Given the description of an element on the screen output the (x, y) to click on. 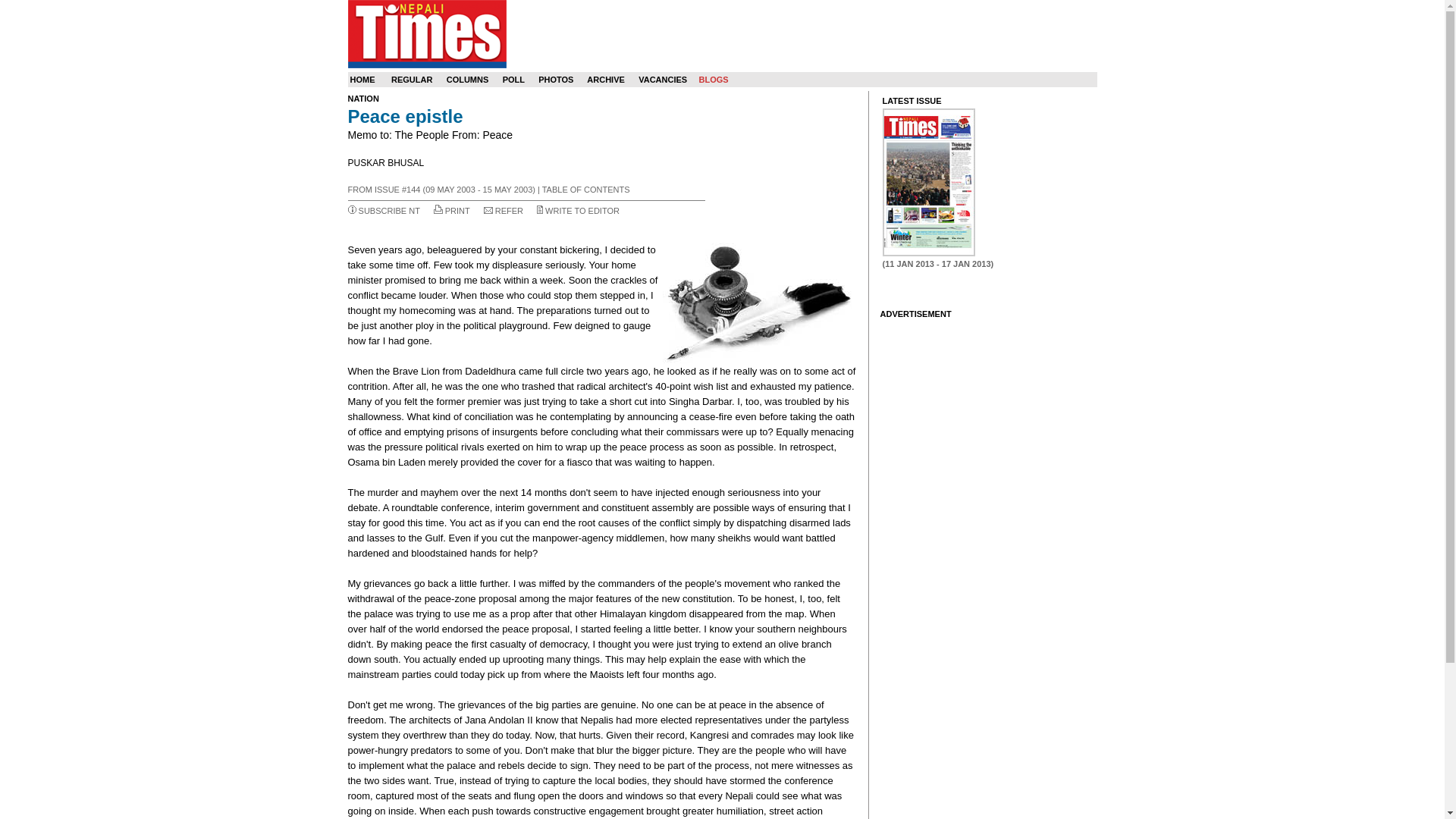
ARCHIVE (605, 79)
PHOTOS (555, 79)
VACANCIES (663, 79)
COLUMNS (467, 79)
POLL (513, 79)
PRINT (458, 210)
SUBSCRIBE NT (389, 210)
TABLE OF CONTENTS (585, 189)
Nepali Times (426, 33)
REGULAR (411, 79)
